Given the description of an element on the screen output the (x, y) to click on. 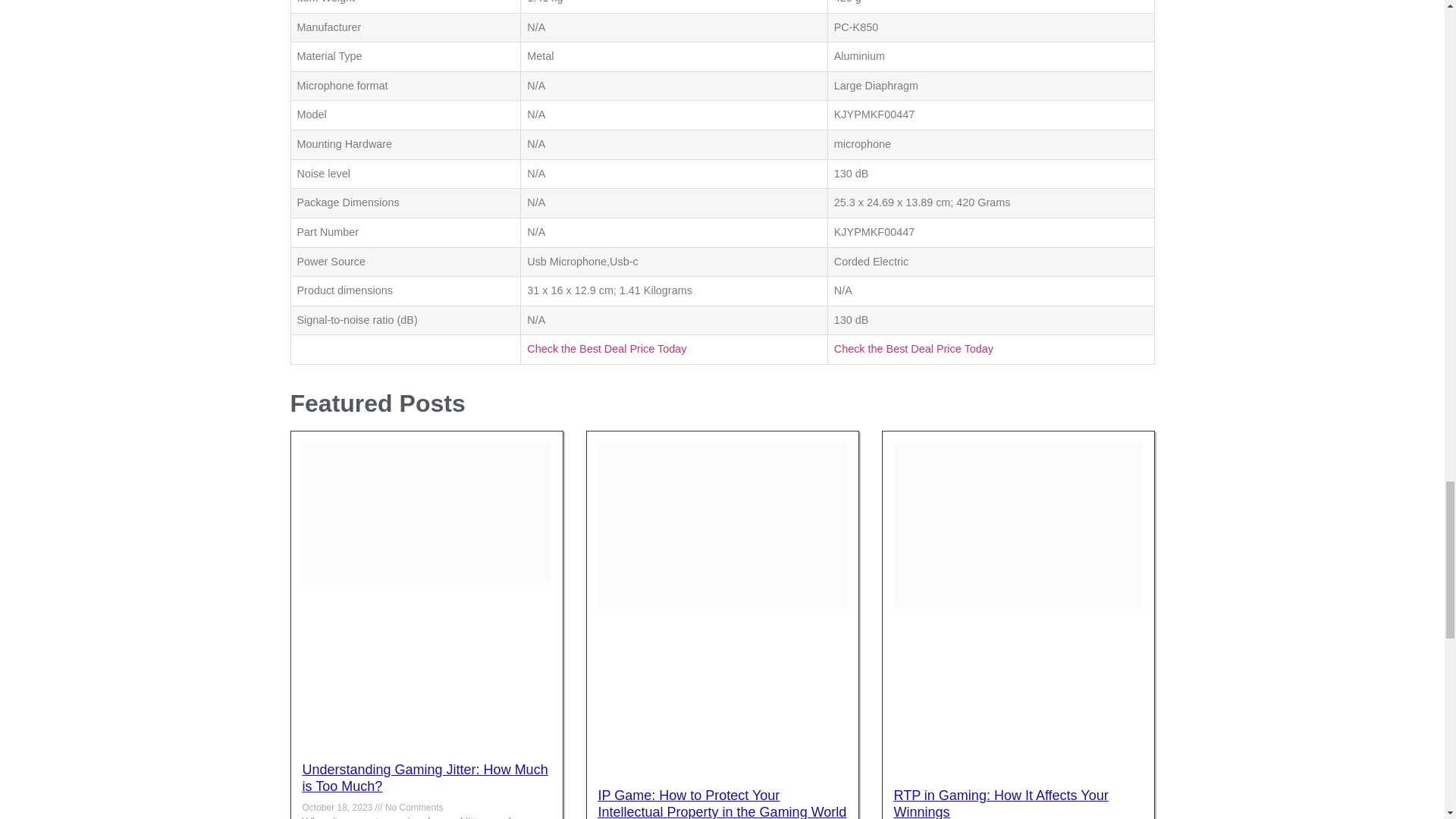
Check the Best Deal Price Today (606, 348)
Understanding Gaming Jitter: How Much is Too Much? (424, 777)
Check the Best Deal Price Today (913, 348)
RTP in Gaming: How It Affects Your Winnings (1000, 803)
